Given the description of an element on the screen output the (x, y) to click on. 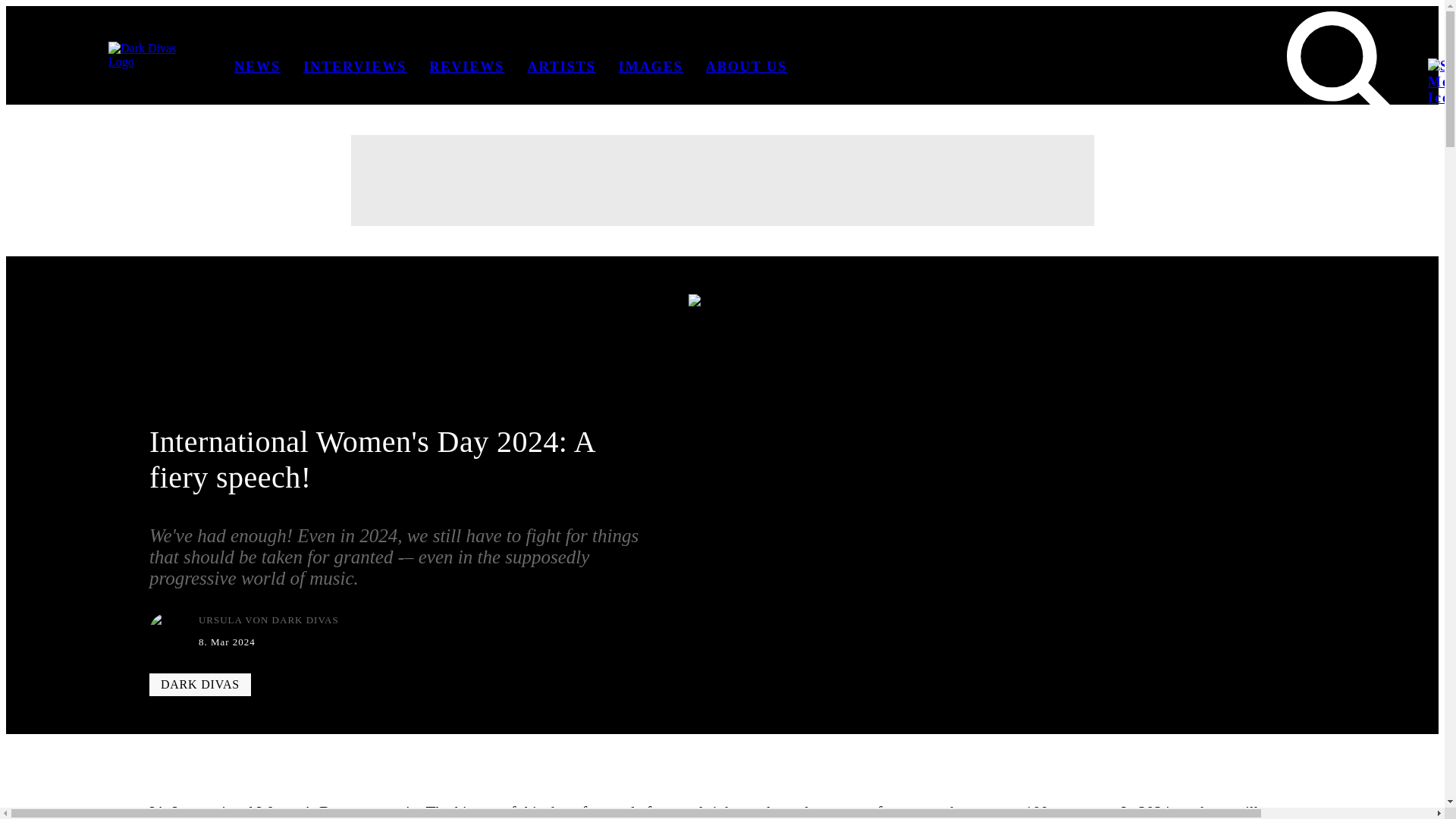
ABOUT US (746, 66)
ARTISTS (561, 66)
INTERVIEWS (354, 66)
NEWS (257, 66)
REVIEWS (466, 66)
IMAGES (650, 66)
